Given the description of an element on the screen output the (x, y) to click on. 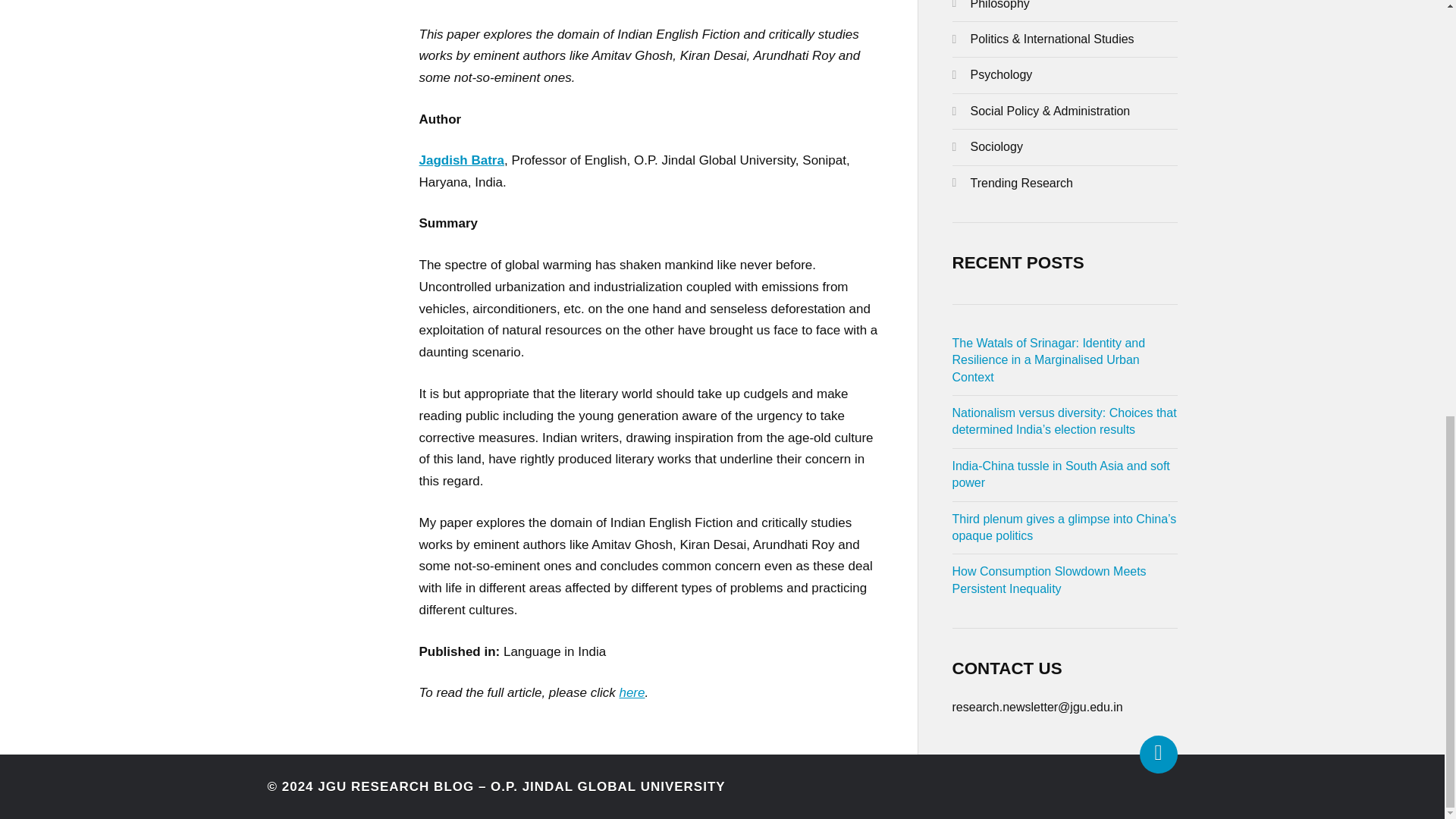
Jagdish Batra (461, 160)
here (631, 692)
